Given the description of an element on the screen output the (x, y) to click on. 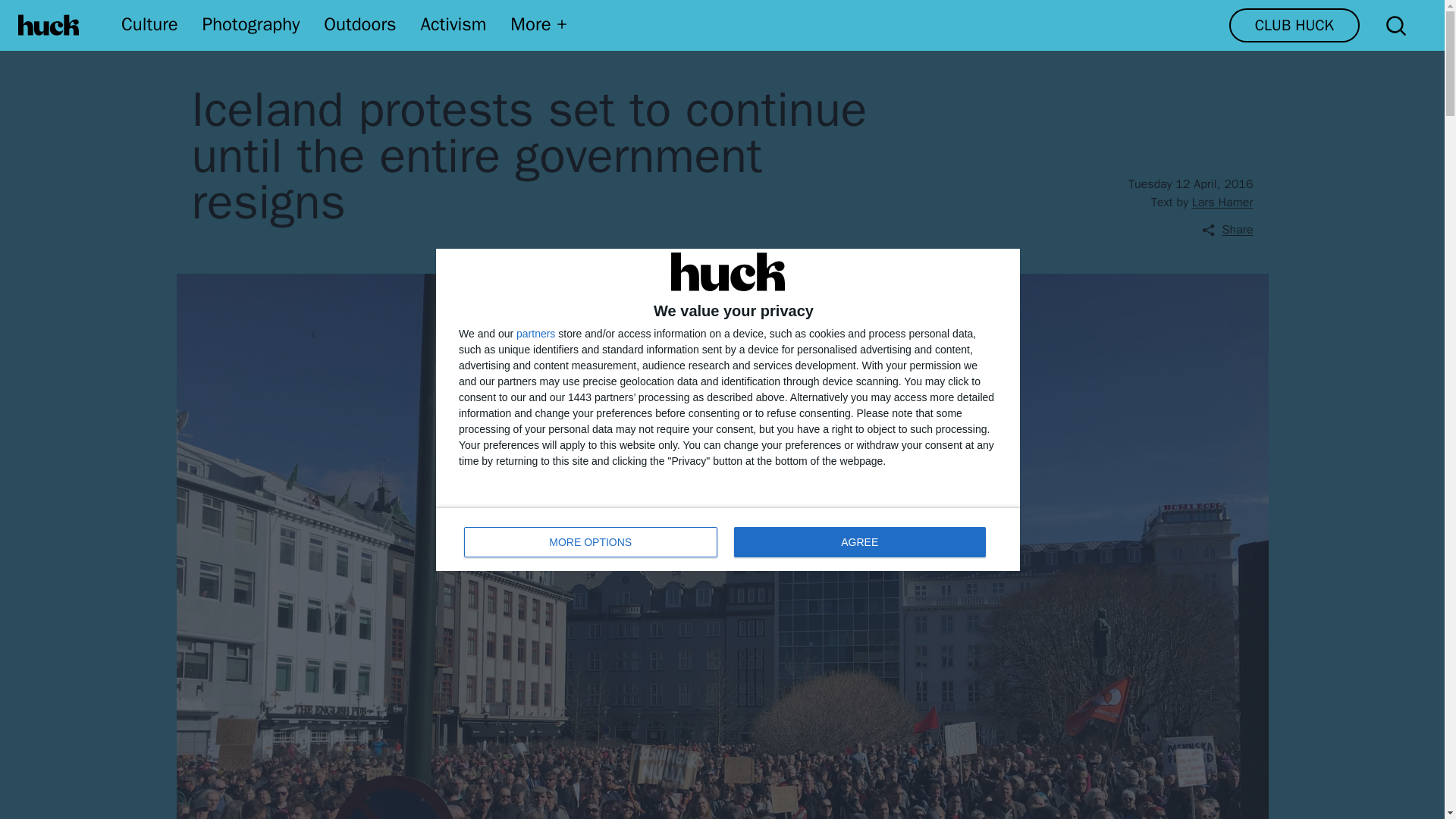
Huck (727, 538)
Lars Hamer (48, 25)
Outdoors (1222, 201)
CLUB HUCK (359, 24)
AGREE (1293, 25)
More (859, 541)
Share (540, 24)
MORE OPTIONS (1226, 229)
Photography (590, 541)
Activism (250, 24)
Culture (453, 24)
partners (148, 24)
